Given the description of an element on the screen output the (x, y) to click on. 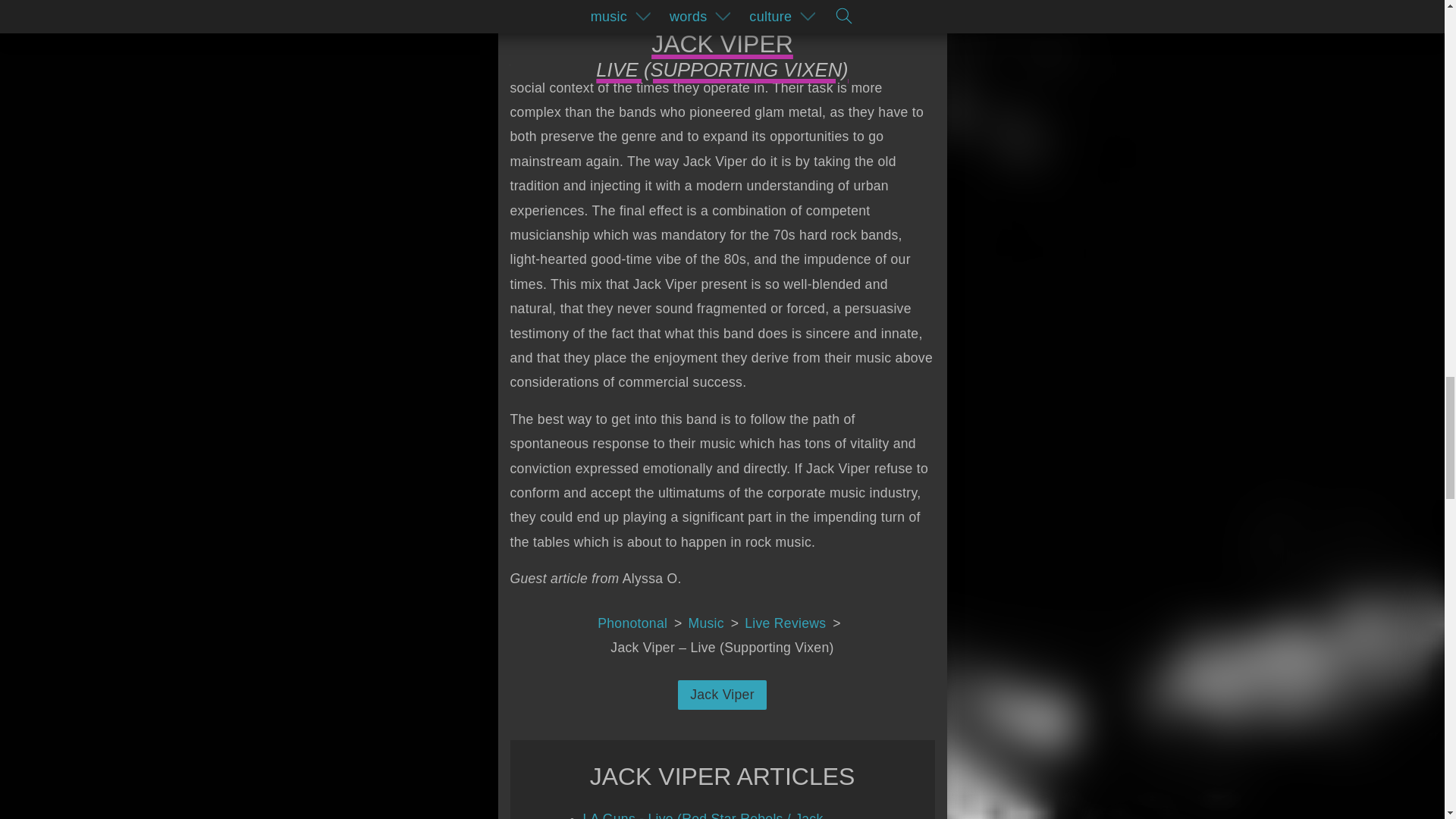
Live Reviews (794, 622)
Music (716, 622)
Jack Viper (722, 695)
Phonotonal (641, 622)
